Given the description of an element on the screen output the (x, y) to click on. 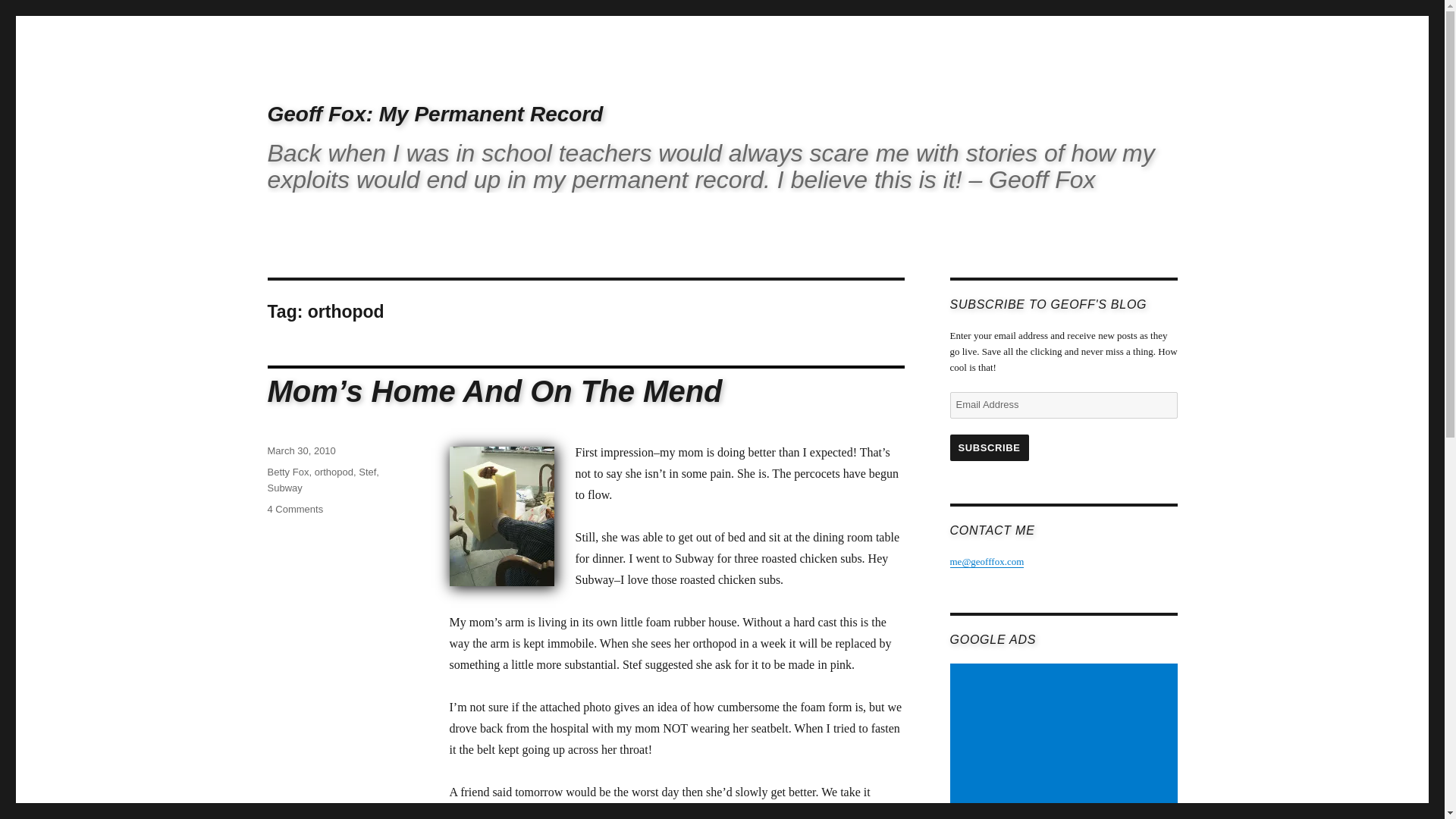
Subway (283, 487)
Betty Fox (287, 471)
March 30, 2010 (300, 450)
orthopod (333, 471)
SUBSCRIBE (988, 447)
Stef (366, 471)
Geoff Fox: My Permanent Record (434, 114)
